Given the description of an element on the screen output the (x, y) to click on. 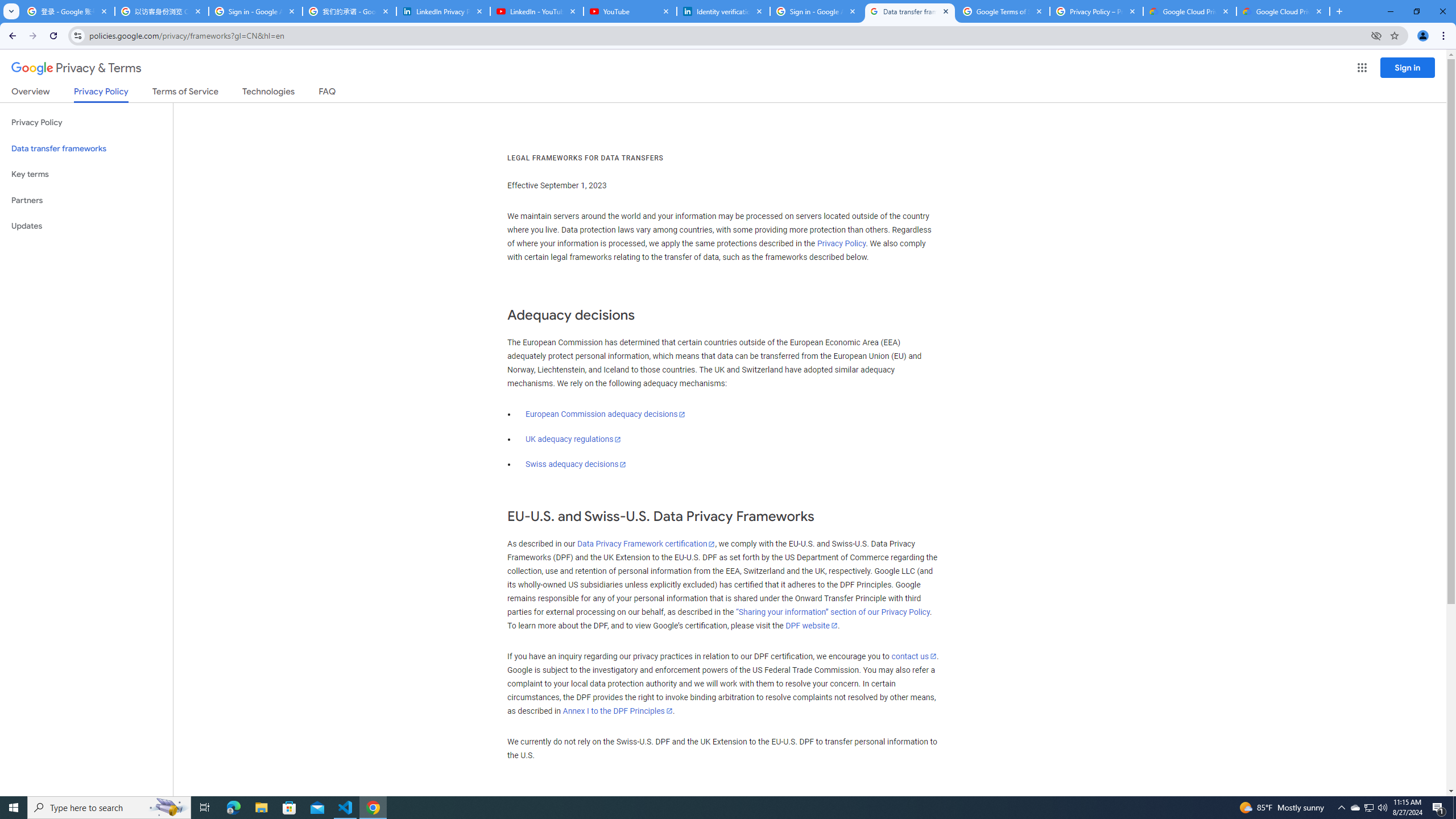
Annex I to the DPF Principles (617, 710)
LinkedIn - YouTube (536, 11)
Privacy Policy (841, 243)
Updates (86, 225)
European Commission adequacy decisions (605, 414)
